Given the description of an element on the screen output the (x, y) to click on. 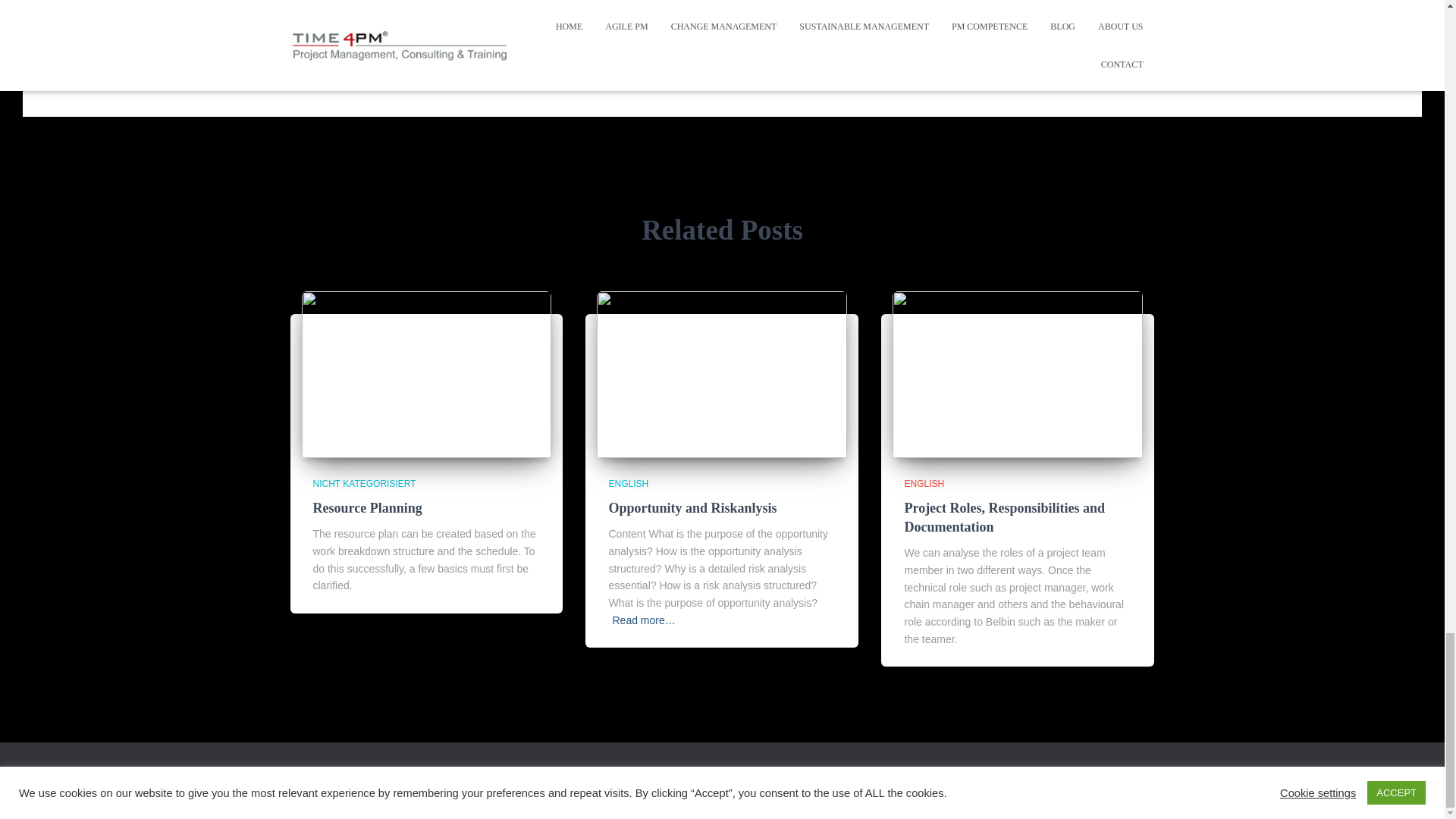
Post Comment (796, 1)
Resource Planning (426, 372)
ENGLISH (923, 483)
Opportunity and Riskanlysis (721, 372)
View all posts in English (627, 483)
Resource Planning (367, 507)
ENGLISH (627, 483)
NICHT KATEGORISIERT (363, 483)
Opportunity and Riskanlysis (692, 507)
DEUTSCH (321, 783)
Resource Planning (367, 507)
View all posts in Nicht kategorisiert (363, 483)
Project Roles, Responsibilities and Documentation (1004, 517)
Post Comment (796, 1)
Opportunity and Riskanlysis (692, 507)
